Given the description of an element on the screen output the (x, y) to click on. 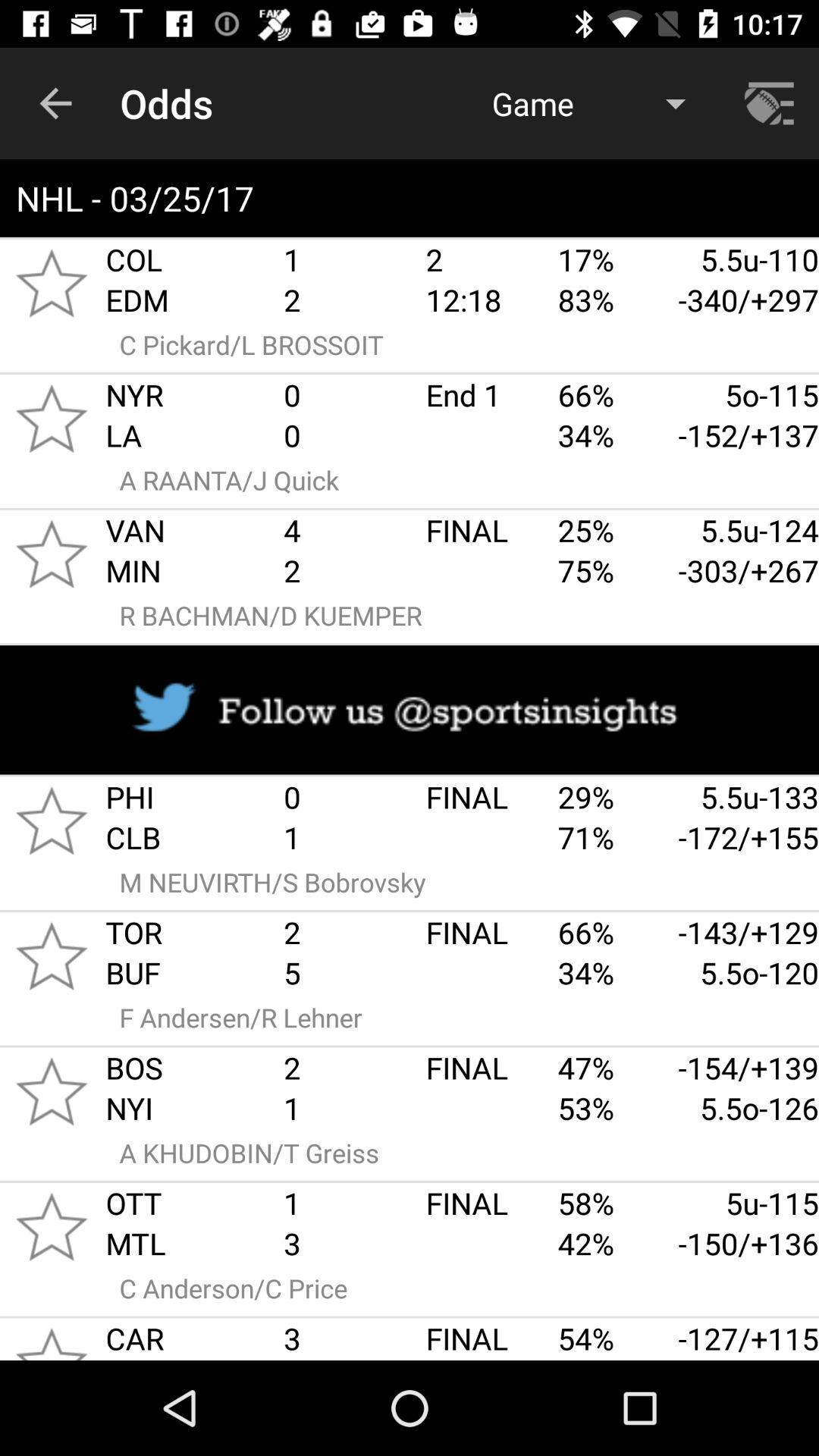
favread (51, 1339)
